Given the description of an element on the screen output the (x, y) to click on. 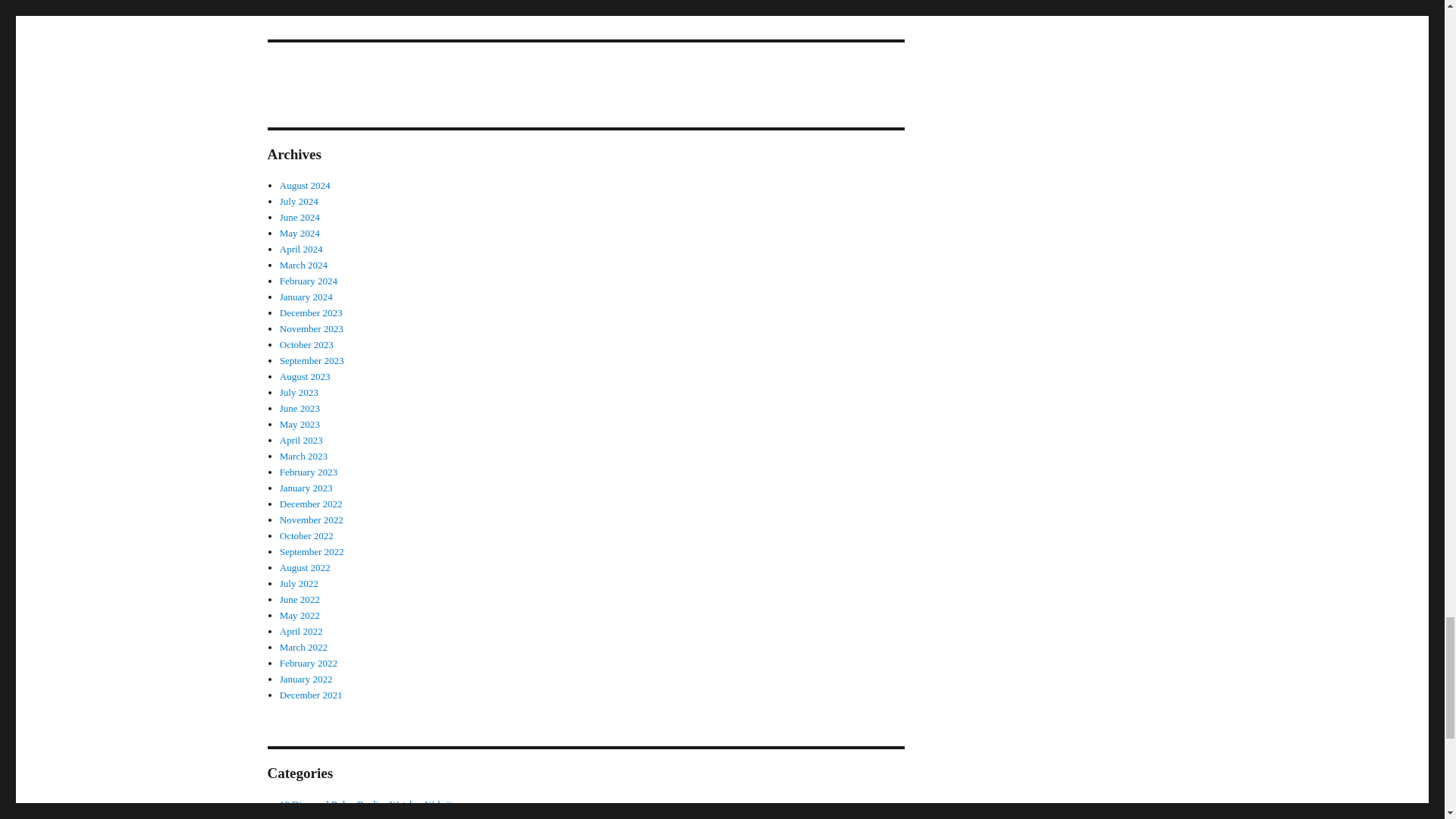
November 2022 (311, 519)
September 2022 (311, 551)
April 2023 (301, 439)
May 2024 (299, 233)
December 2022 (310, 503)
July 2024 (298, 201)
February 2024 (308, 280)
April 2024 (301, 248)
September 2023 (311, 360)
January 2023 (306, 487)
